Given the description of an element on the screen output the (x, y) to click on. 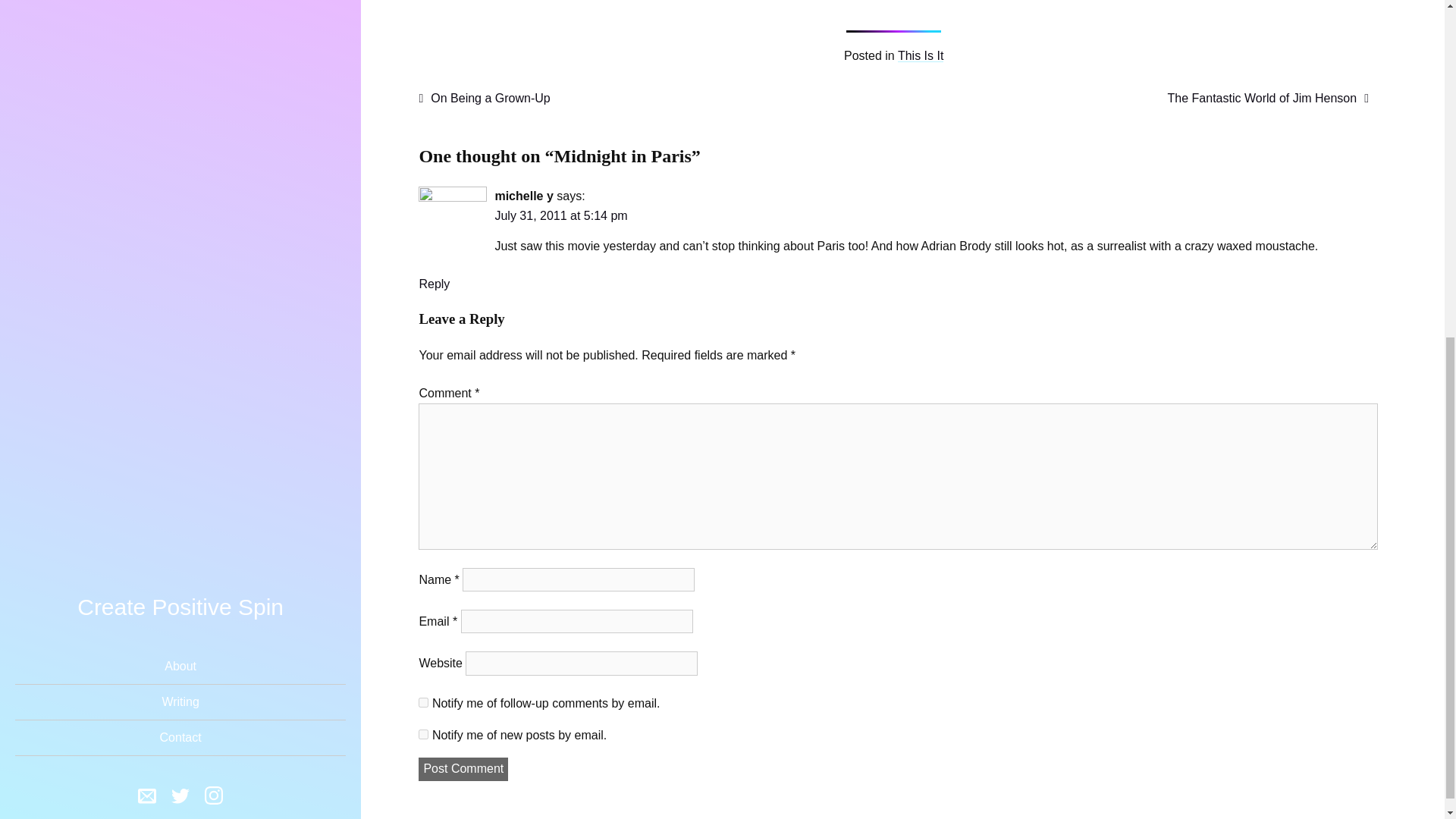
twitter (180, 217)
About (180, 86)
This Is It (920, 55)
Post Comment (463, 769)
The Fantastic World of Jim Henson (1267, 97)
July 31, 2011 at 5:14 pm (561, 215)
subscribe (423, 702)
On Being a Grown-Up (484, 97)
instagram (213, 217)
Create Positive Spin (180, 26)
